Given the description of an element on the screen output the (x, y) to click on. 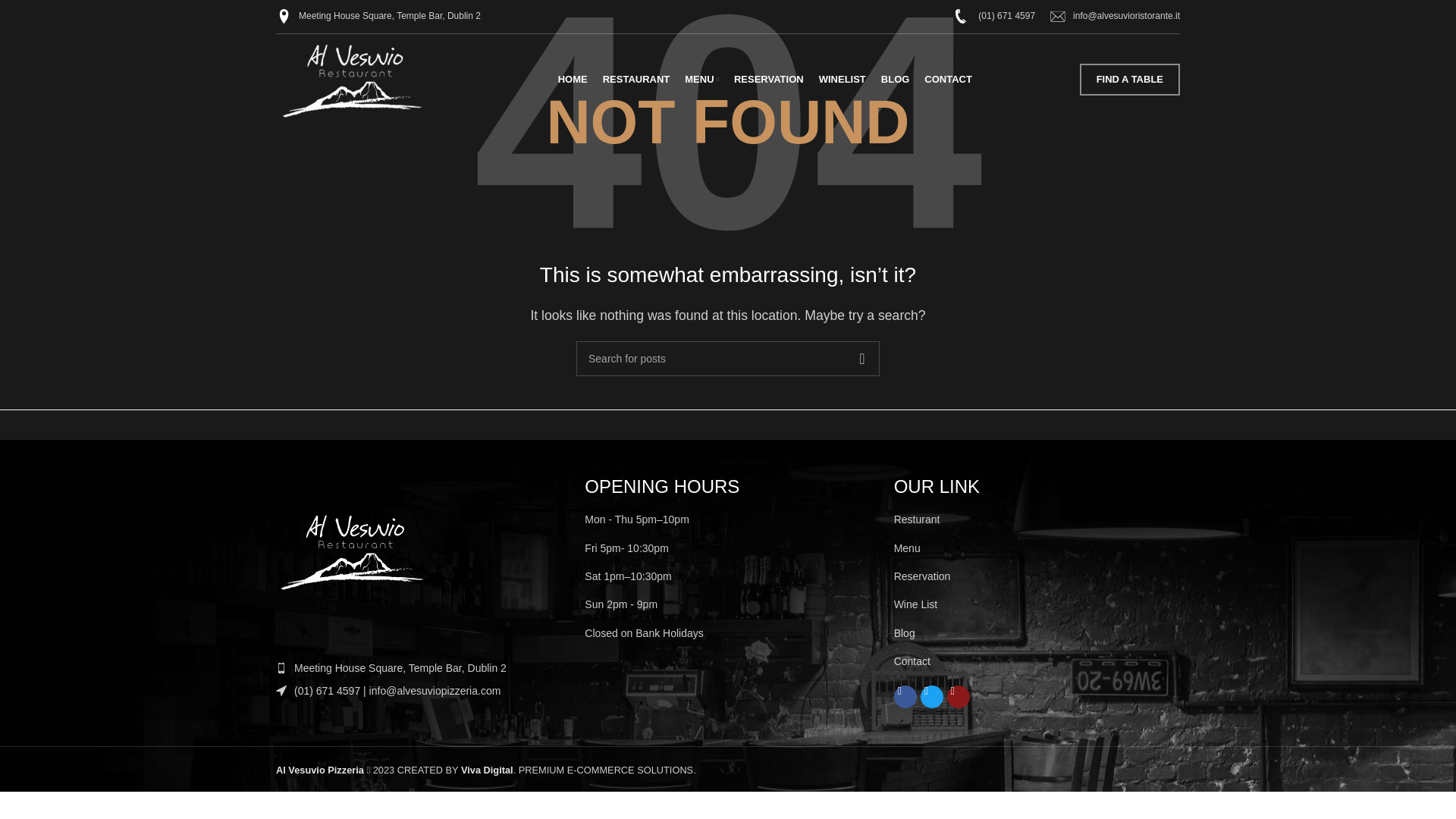
RESTAURANT (635, 79)
wd-phone-light (281, 667)
CONTACT (948, 79)
Viva Digital (487, 769)
FIND A TABLE (1129, 79)
BLOG (895, 79)
SEARCH (861, 358)
Al Vesuvio Pizzeria (320, 769)
Search for posts (727, 358)
wd-cursor-light (281, 690)
Logo Al Vesuvio (352, 553)
RESERVATION (768, 79)
HOME (572, 79)
MENU (701, 79)
WINELIST (842, 79)
